Given the description of an element on the screen output the (x, y) to click on. 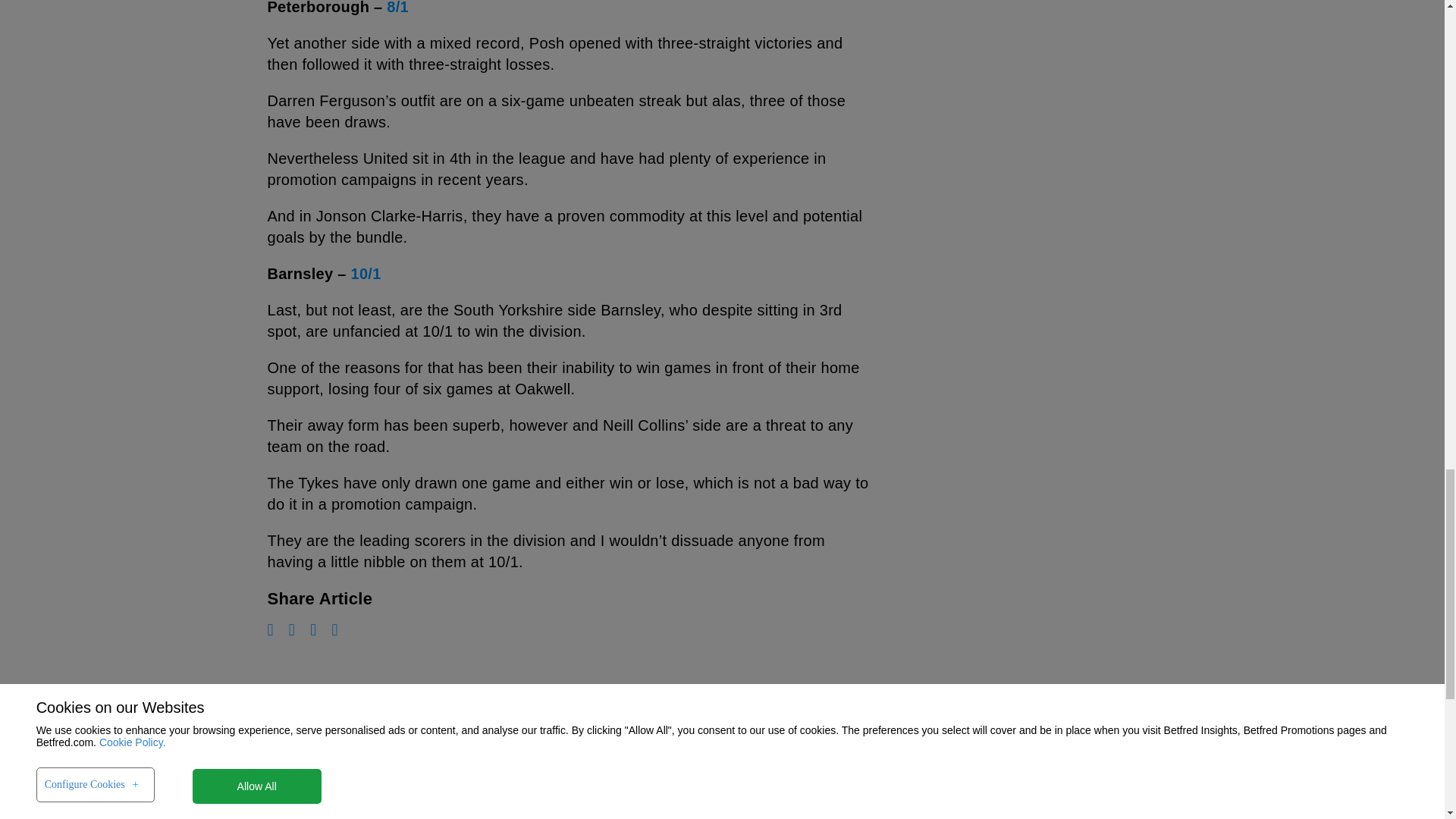
Facebook (291, 629)
Instagram (312, 629)
WhatsApp (269, 629)
X (334, 629)
